Given the description of an element on the screen output the (x, y) to click on. 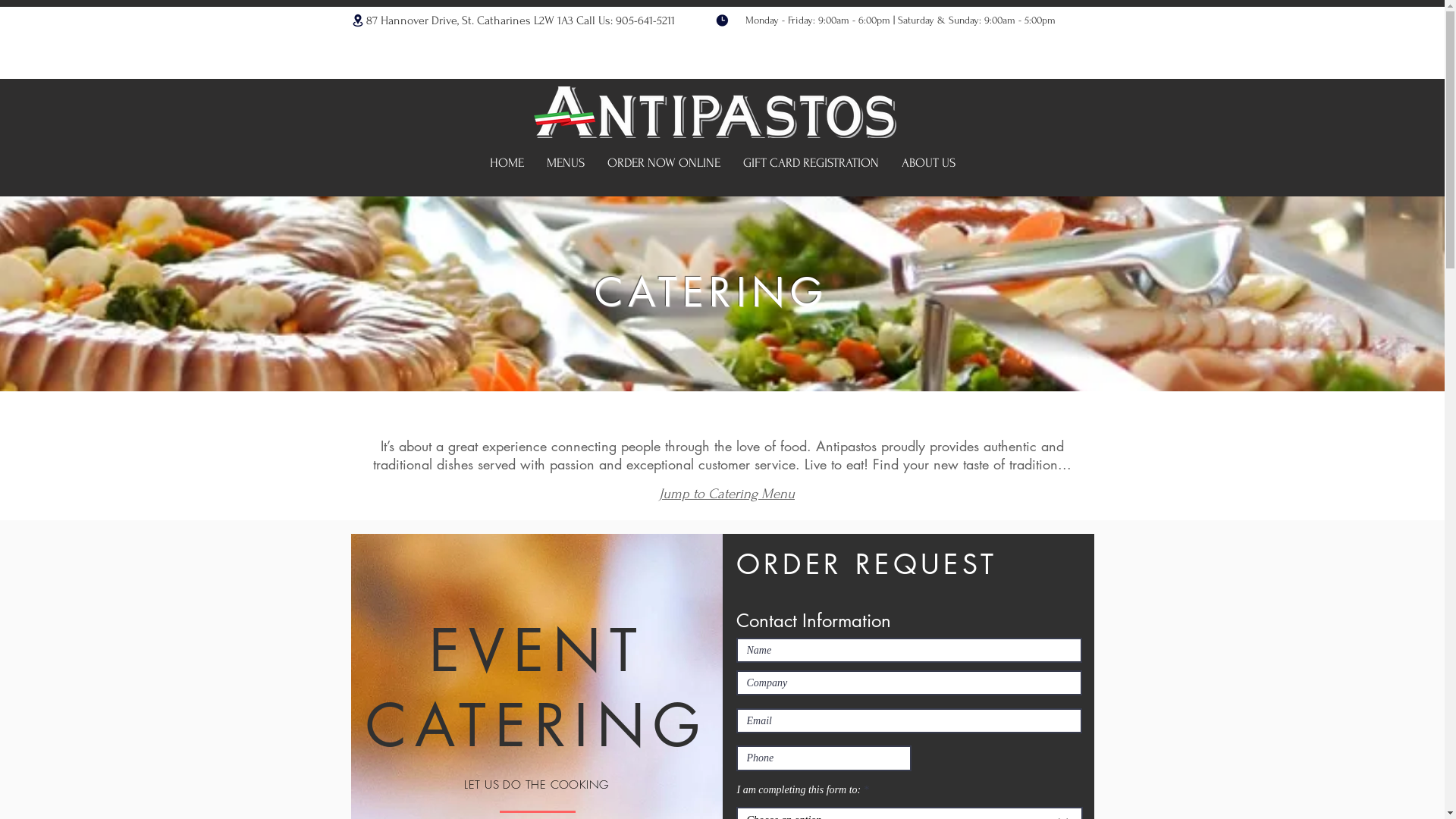
ORDER NOW ONLINE Element type: text (663, 162)
Jump to Catering Menu Element type: text (726, 494)
GIFT CARD REGISTRATION Element type: text (810, 162)
HOME Element type: text (505, 162)
